Given the description of an element on the screen output the (x, y) to click on. 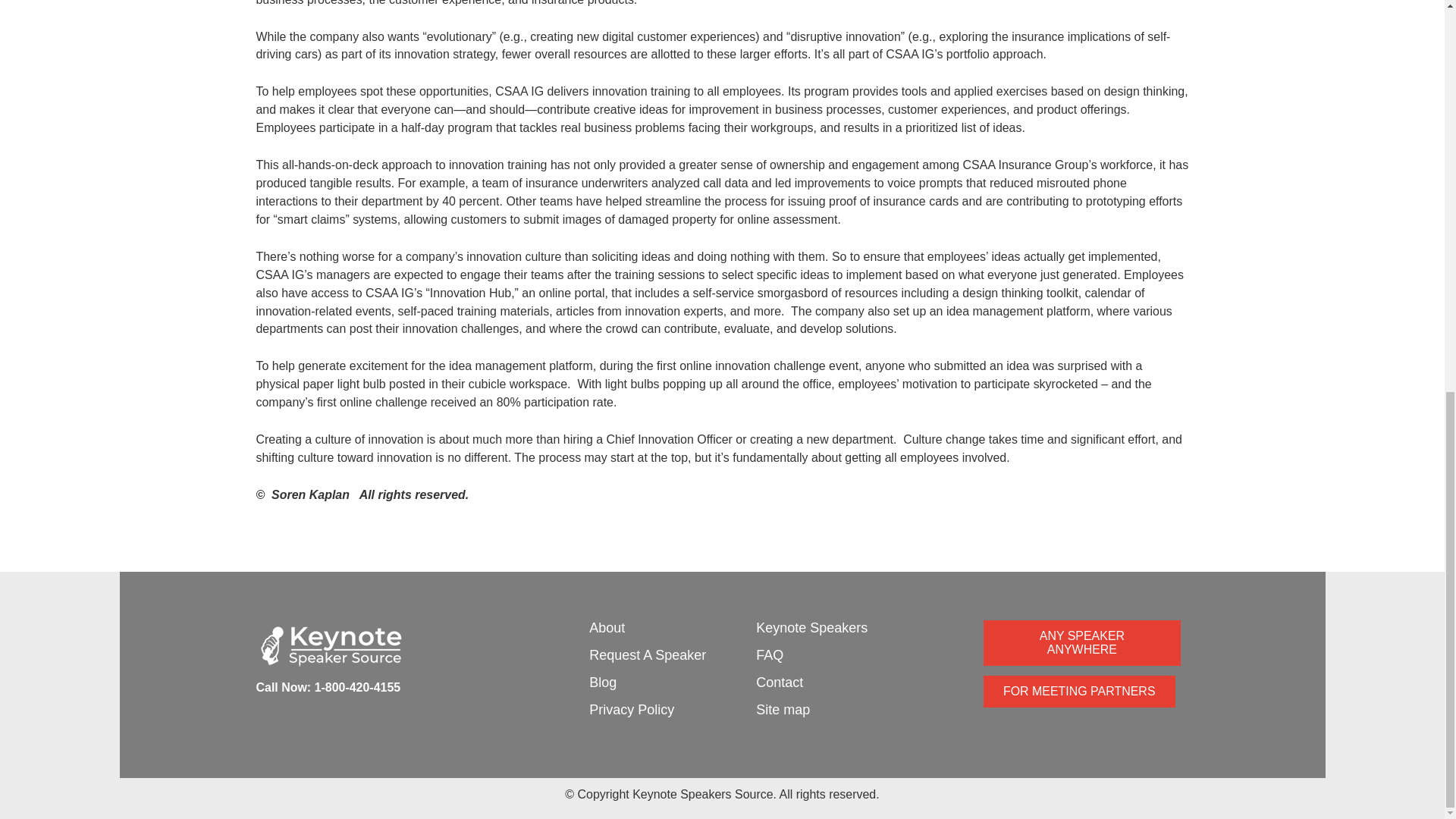
ANY SPEAKER ANYWHERE (1081, 642)
FAQ (769, 654)
FOR MEETING PARTNERS (1079, 690)
Request A Speaker (647, 654)
Keynote Speakers (811, 627)
Blog (602, 682)
Privacy Policy (631, 709)
Contact (779, 682)
About (606, 627)
1-800-420-4155 (357, 686)
Site map (782, 709)
